Given the description of an element on the screen output the (x, y) to click on. 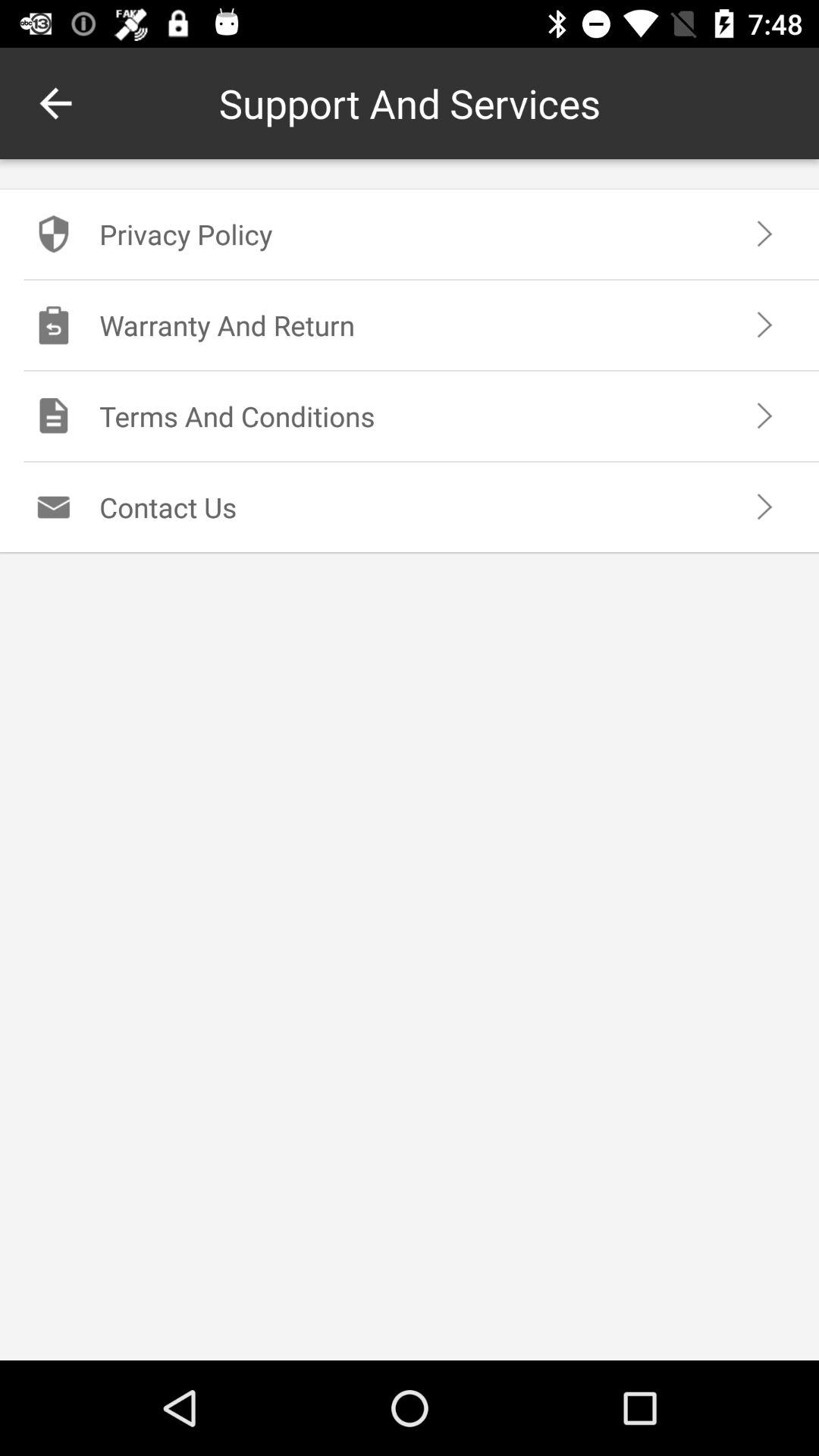
select item to the left of the support and services (55, 103)
